Given the description of an element on the screen output the (x, y) to click on. 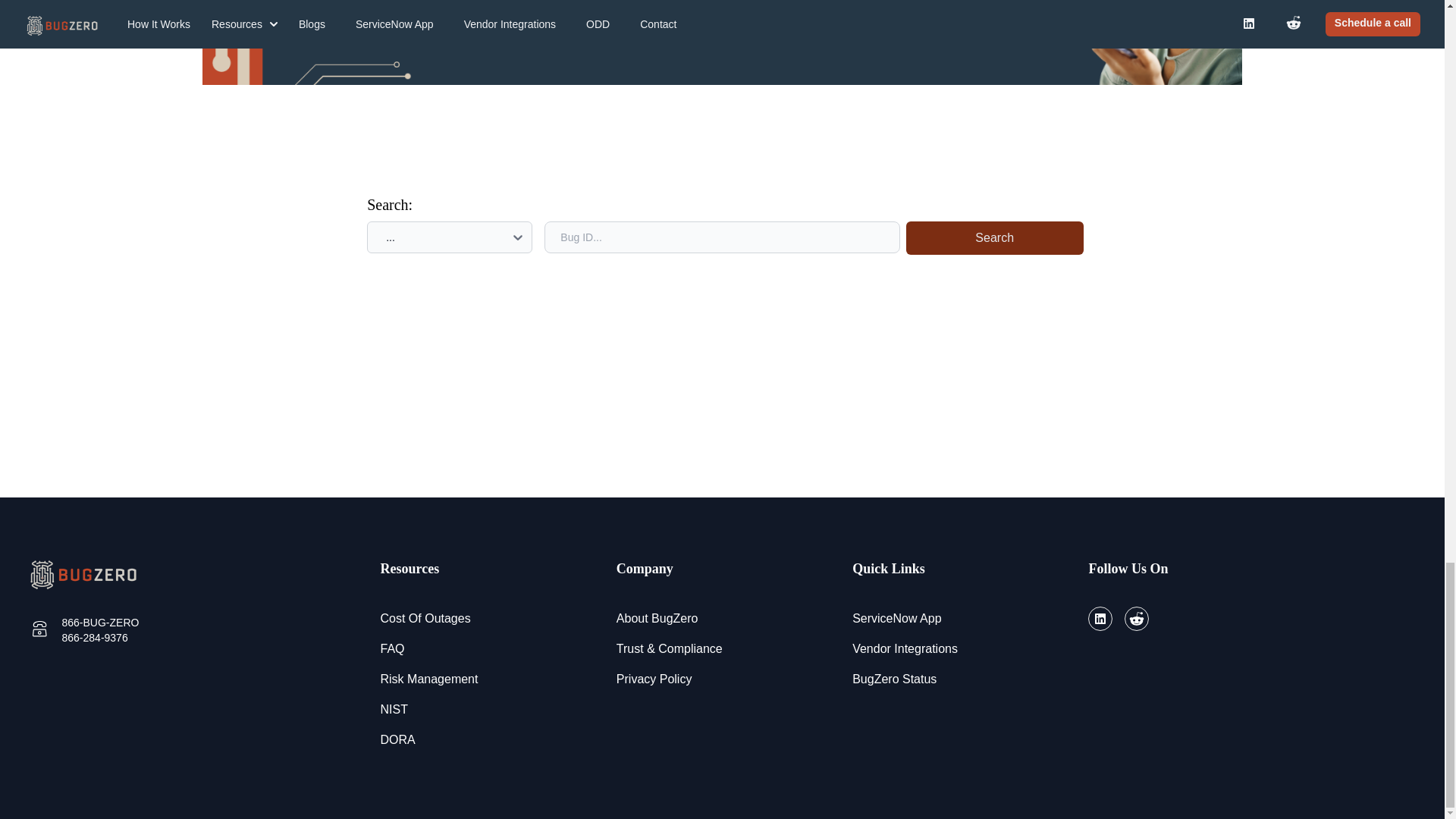
Search (991, 237)
Cost Of Outages (425, 618)
ServiceNow App (895, 618)
About BugZero (656, 618)
Search (994, 237)
Vendor Integrations (904, 648)
BugZero Status (893, 679)
DORA (397, 740)
FAQ (392, 648)
NIST (393, 709)
